Given the description of an element on the screen output the (x, y) to click on. 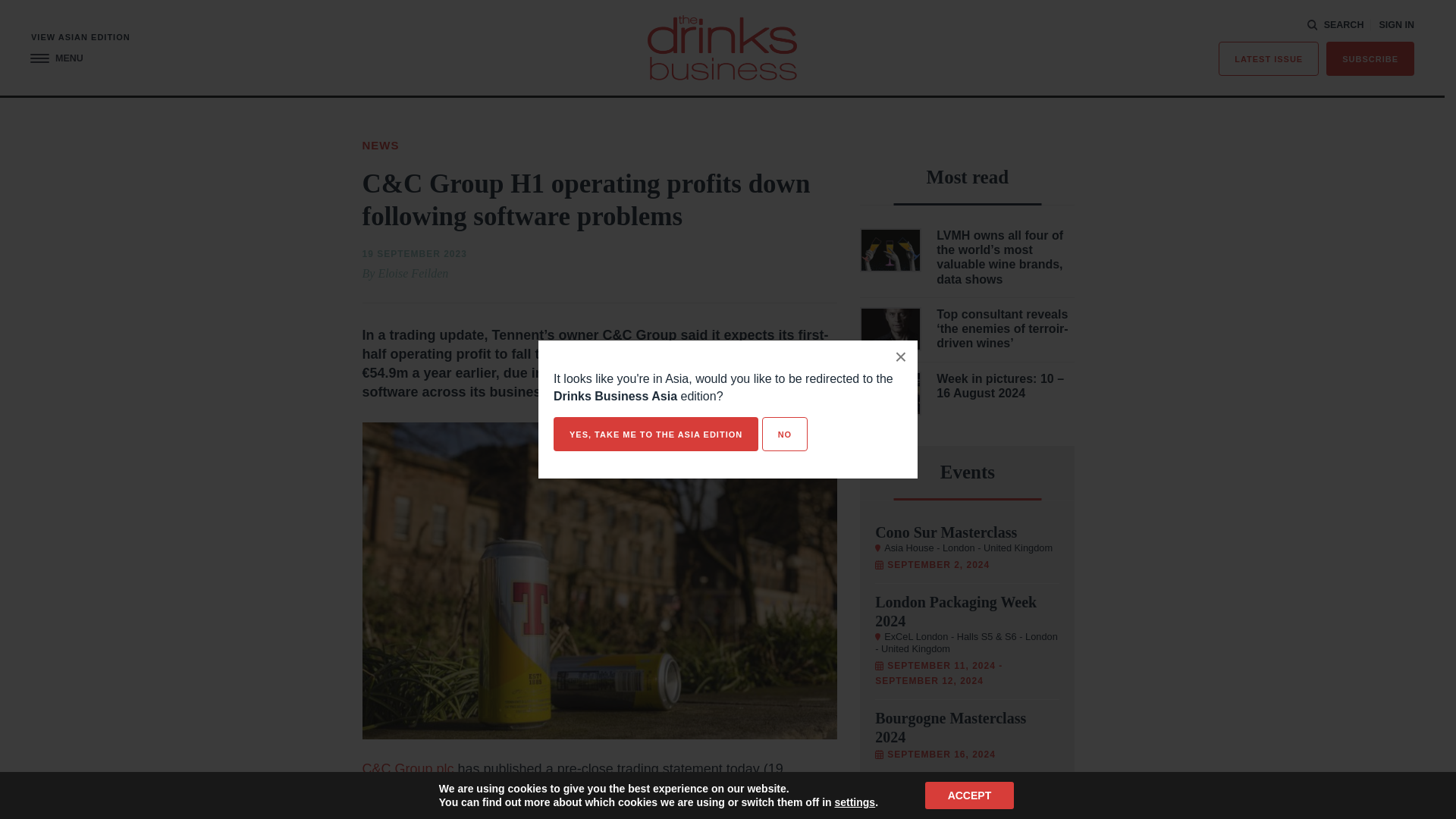
VIEW ASIAN EDITION (80, 37)
LATEST ISSUE (1268, 58)
NO (784, 433)
SUBSCRIBE (1369, 58)
YES, TAKE ME TO THE ASIA EDITION (655, 433)
The Drinks Business (721, 47)
SIGN IN (1395, 25)
